Given the description of an element on the screen output the (x, y) to click on. 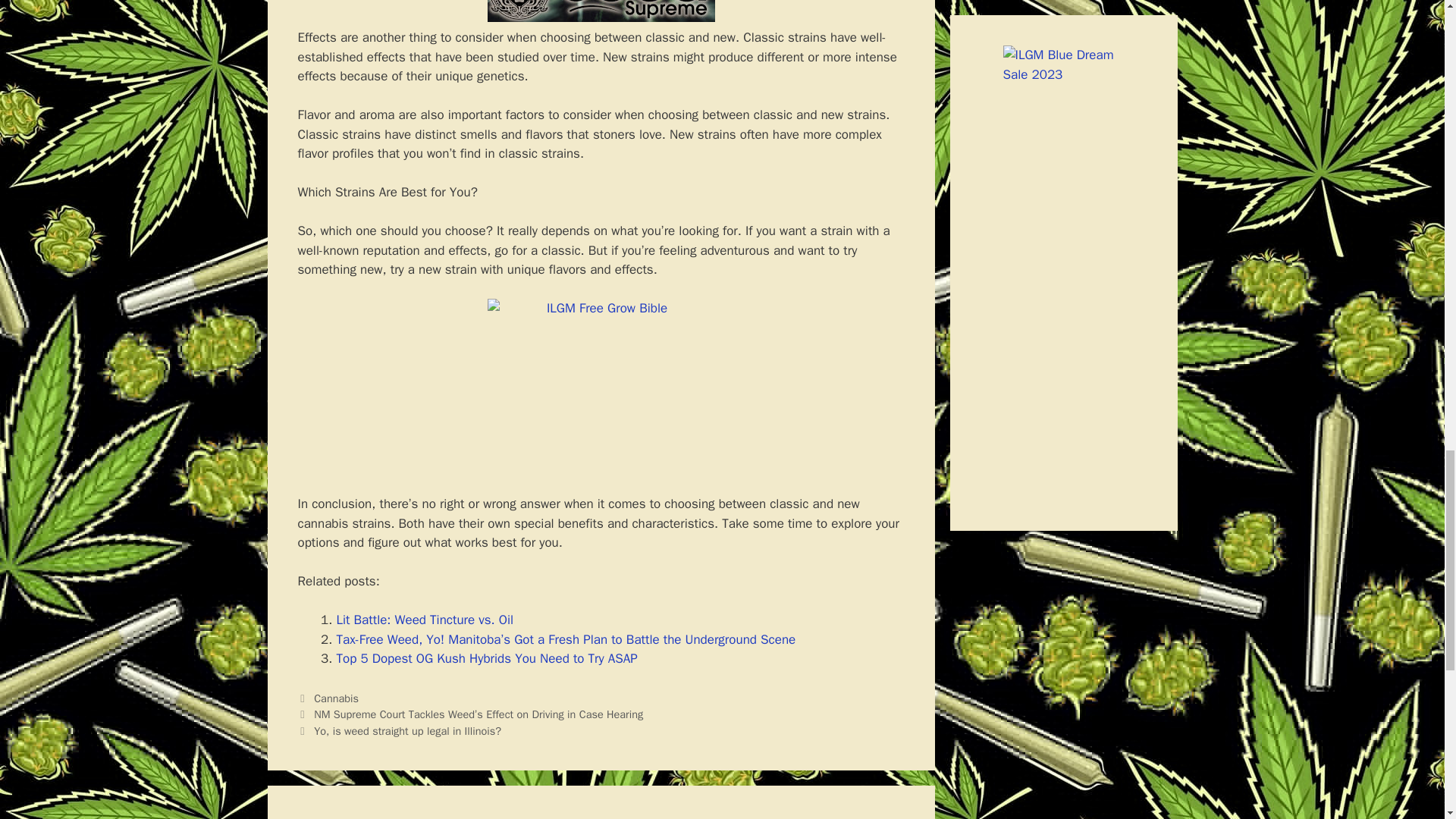
Yo, is weed straight up legal in Illinois? (407, 730)
Cannabis (336, 698)
Top 5 Dopest OG Kush Hybrids You Need to Try ASAP (486, 658)
Lit Battle: Weed Tincture vs. Oil (424, 619)
Top 5 Dopest OG Kush Hybrids You Need to Try ASAP (486, 658)
Lit Battle: Weed Tincture vs. Oil (424, 619)
